Given the description of an element on the screen output the (x, y) to click on. 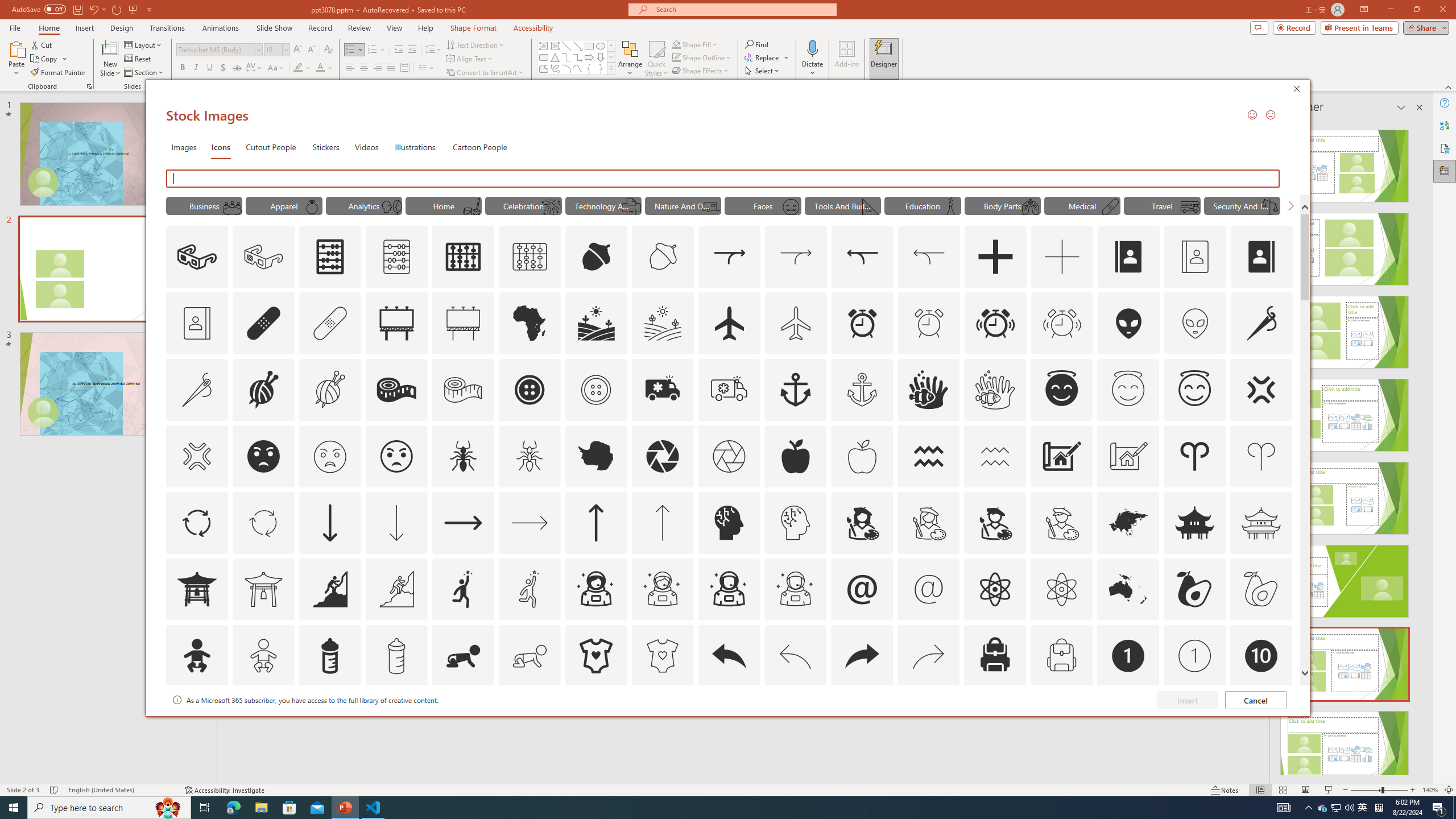
AutomationID: Icons_ArtistFemale (861, 522)
AutomationID: Icons_AlterationsTailoring1_M (329, 389)
Decrease Font Size (310, 49)
AutomationID: Icons_Badge7 (928, 721)
AutomationID: Icons_Badge6 (795, 721)
Increase Indent (412, 49)
Stickers (326, 146)
